Given the description of an element on the screen output the (x, y) to click on. 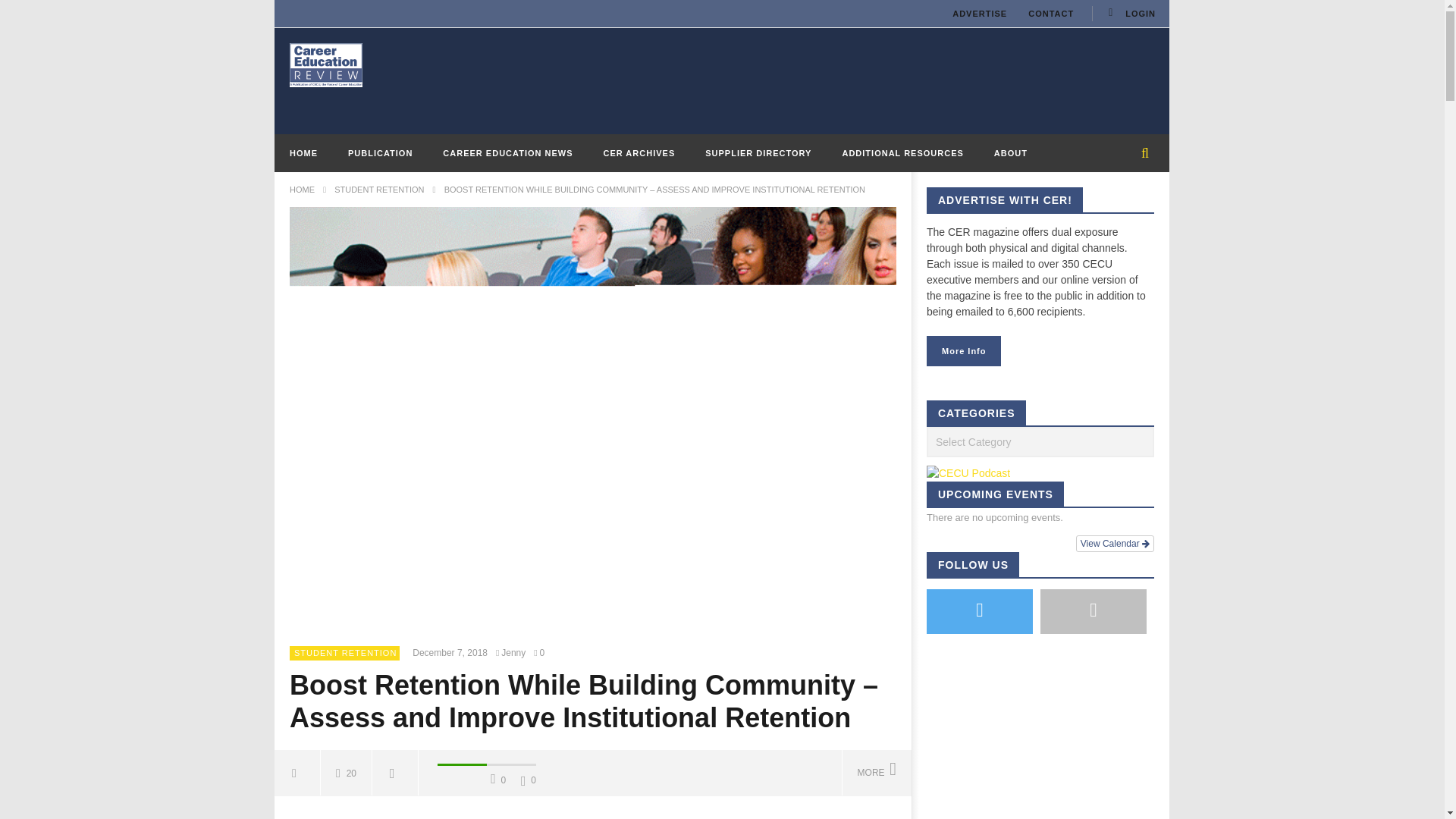
PUBLICATION (380, 152)
CER ARCHIVES (639, 152)
CONTACT (1050, 13)
CAREER EDUCATION NEWS (508, 152)
Career Education Review (325, 64)
Posts by Jenny (513, 653)
View all posts in Student Retention (345, 652)
LOGIN (1130, 13)
ADVERTISE (979, 13)
HOME (304, 152)
